Given the description of an element on the screen output the (x, y) to click on. 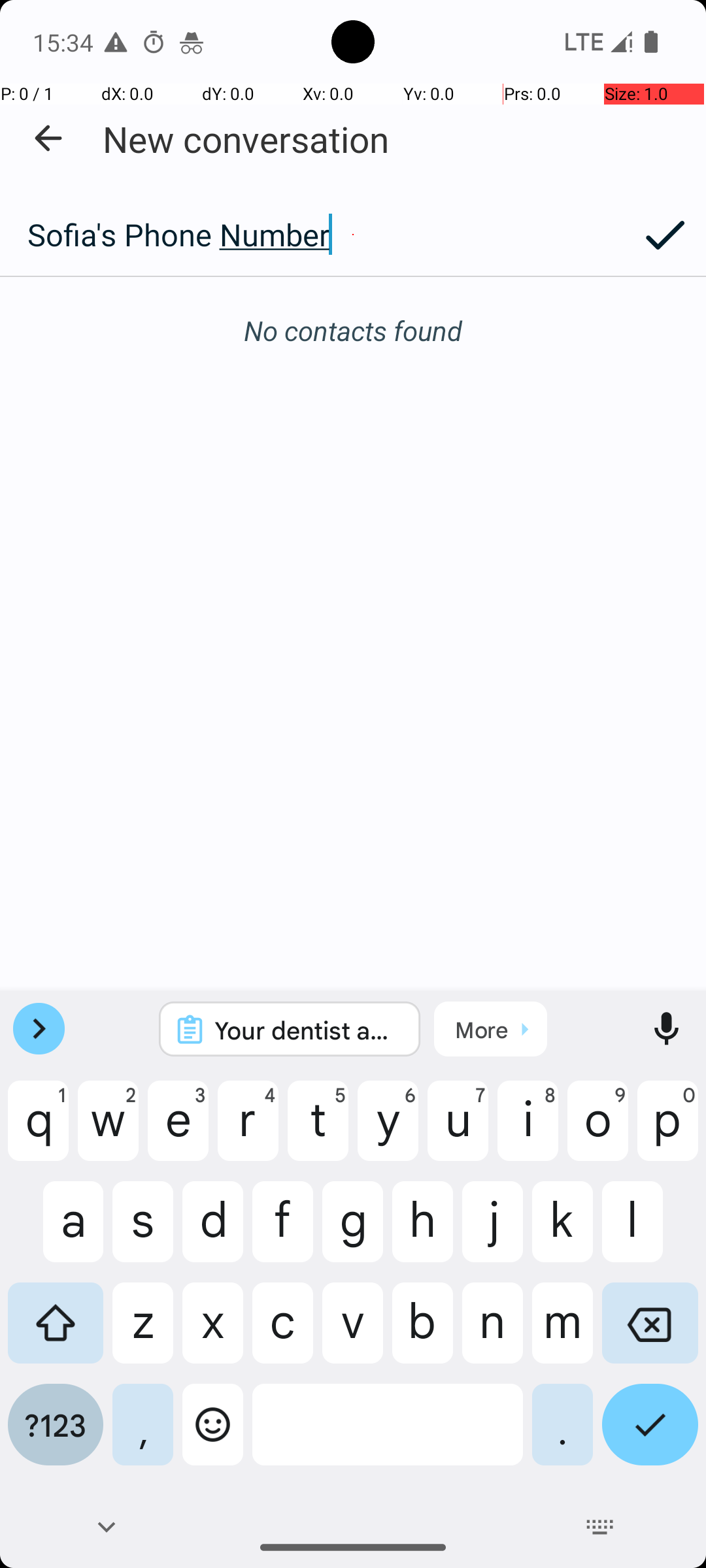
New conversation Element type: android.widget.TextView (245, 138)
Sofia's Phone Number Element type: android.widget.EditText (311, 234)
No contacts found Element type: android.widget.TextView (353, 329)
Your dentist appointment is scheduled for 2 PM on Thursday. Element type: android.widget.TextView (306, 1029)
